Given the description of an element on the screen output the (x, y) to click on. 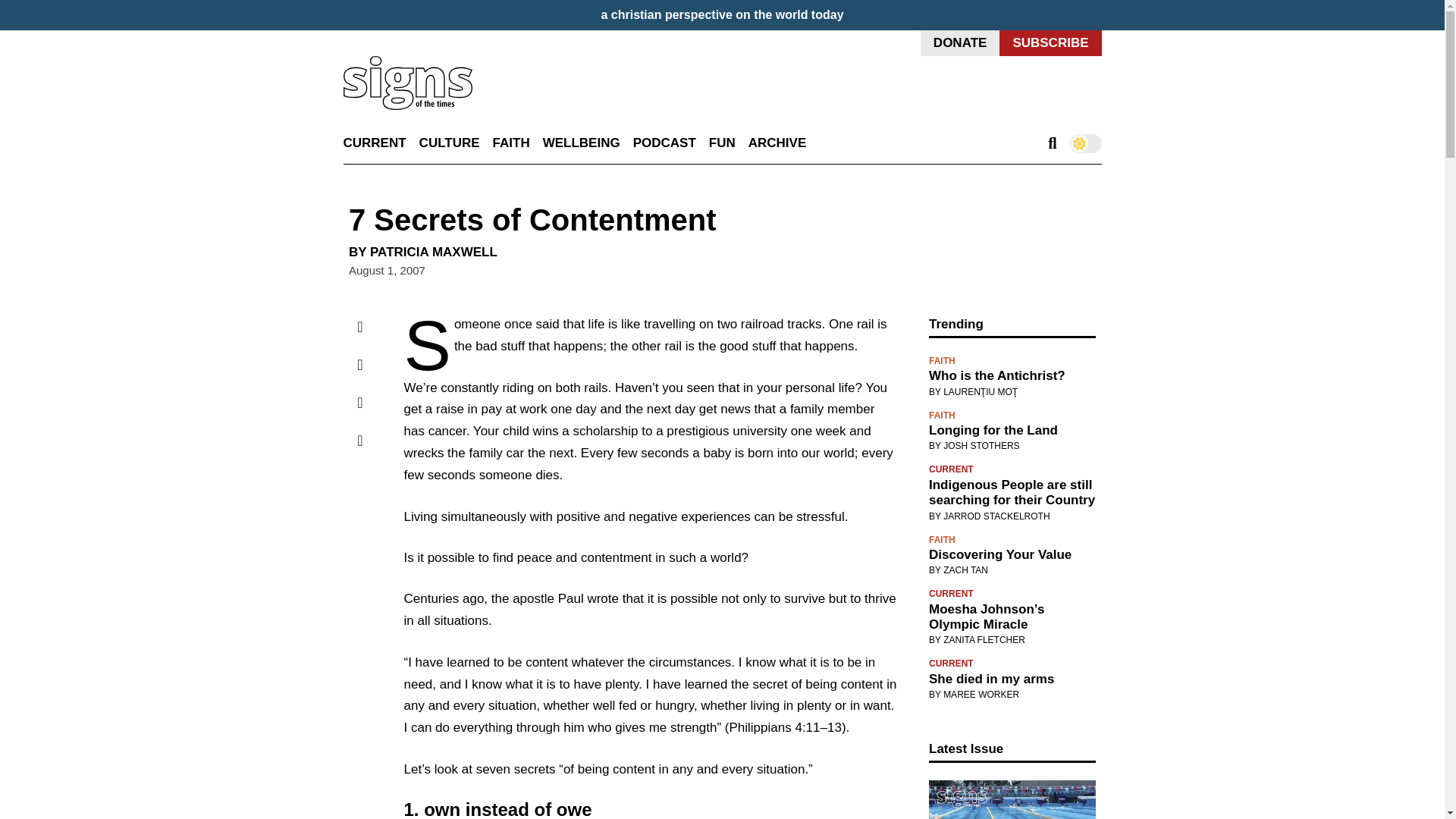
WELLBEING (581, 142)
Copy link (360, 440)
ARCHIVE (777, 142)
ZANITA FLETCHER (984, 639)
JARROD STACKELROTH (996, 516)
Switch to dark mode (1084, 143)
FAITH (511, 142)
Share on Twitter (360, 363)
PATRICIA MAXWELL (433, 251)
FAITH (941, 539)
PODCAST (664, 142)
FAITH (941, 360)
JOSH STOTHERS (981, 445)
Discovering Your Value (1012, 554)
Who is the Antichrist? (1012, 376)
